Given the description of an element on the screen output the (x, y) to click on. 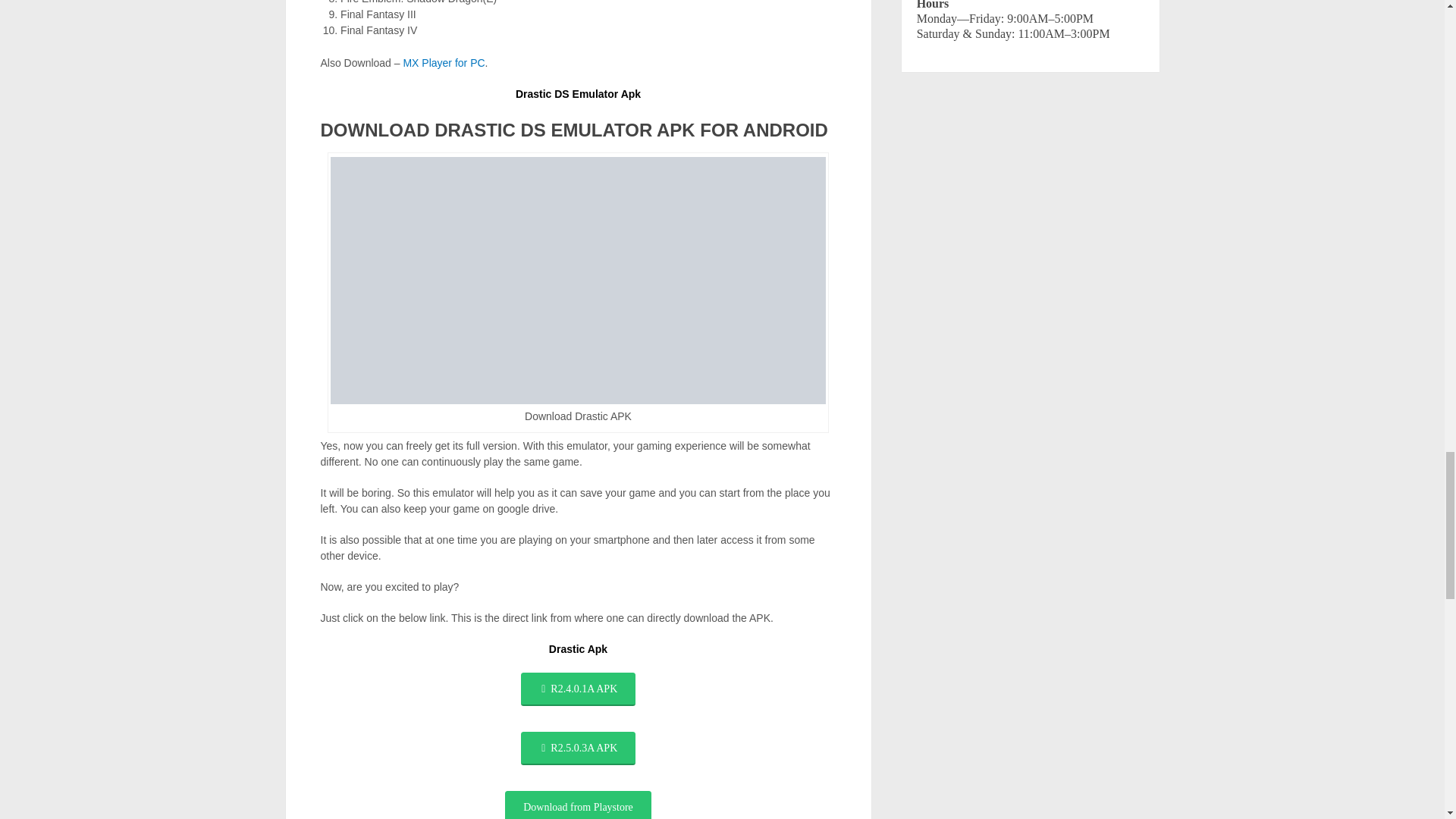
Download from Playstore (577, 805)
   R2.5.0.3A APK (577, 748)
Drastic DS Emulator Apk (577, 93)
Drastic Apk (577, 648)
   R2.4.0.1A APK (577, 688)
MX Player for PC (443, 62)
